Given the description of an element on the screen output the (x, y) to click on. 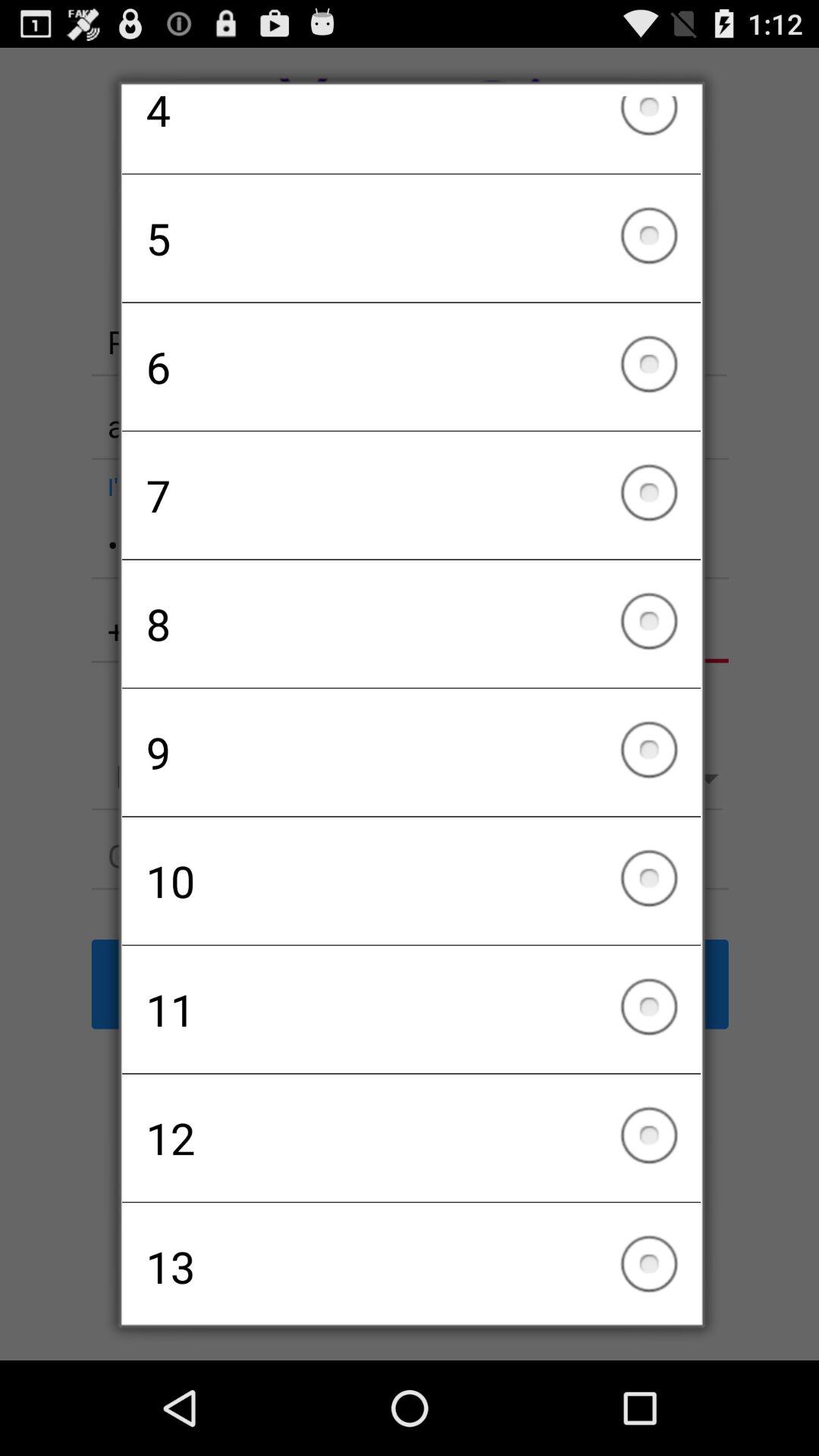
turn off 10 item (411, 880)
